Given the description of an element on the screen output the (x, y) to click on. 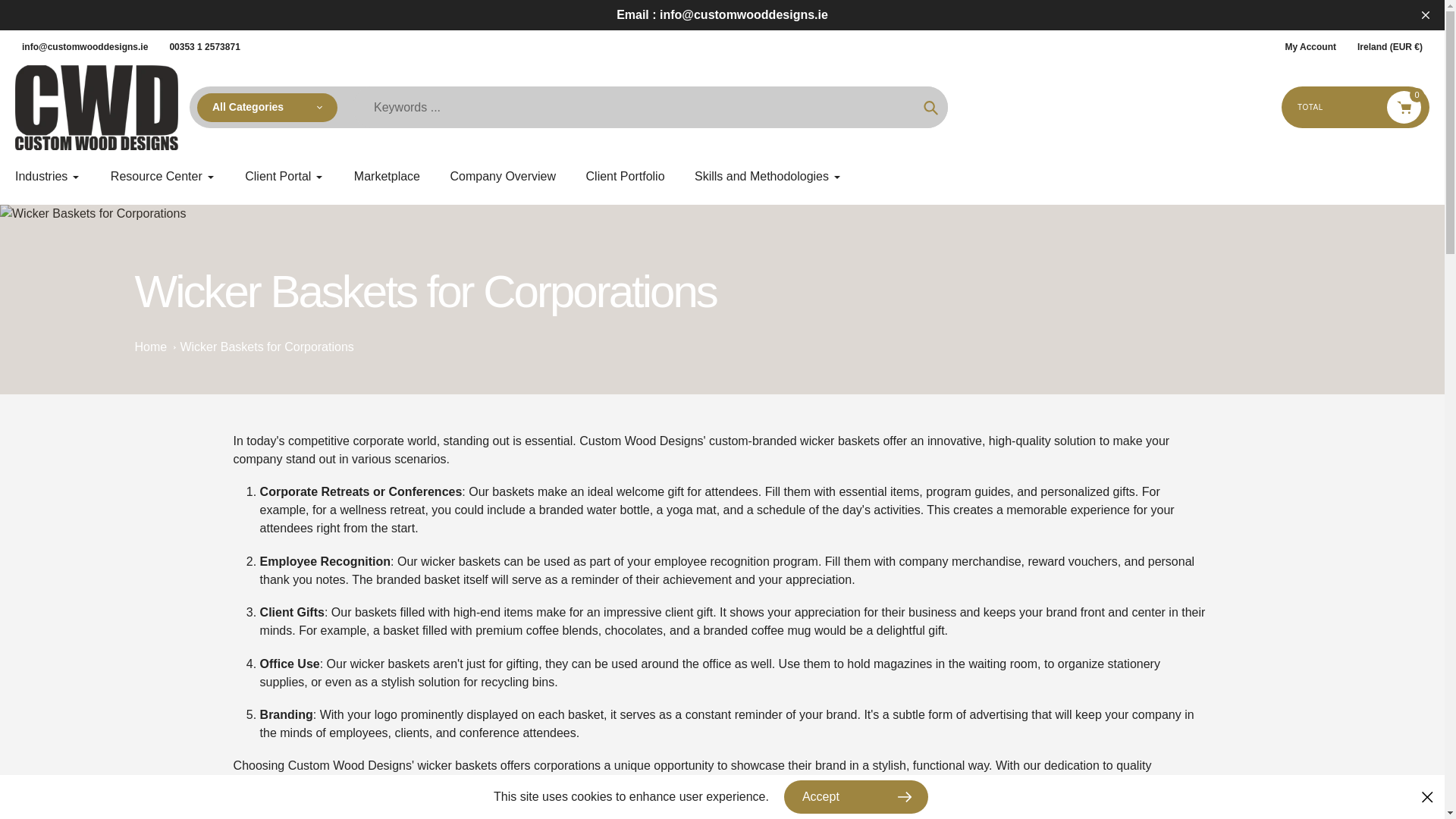
00353 1 2573871 (203, 47)
My Account (1304, 47)
